Given the description of an element on the screen output the (x, y) to click on. 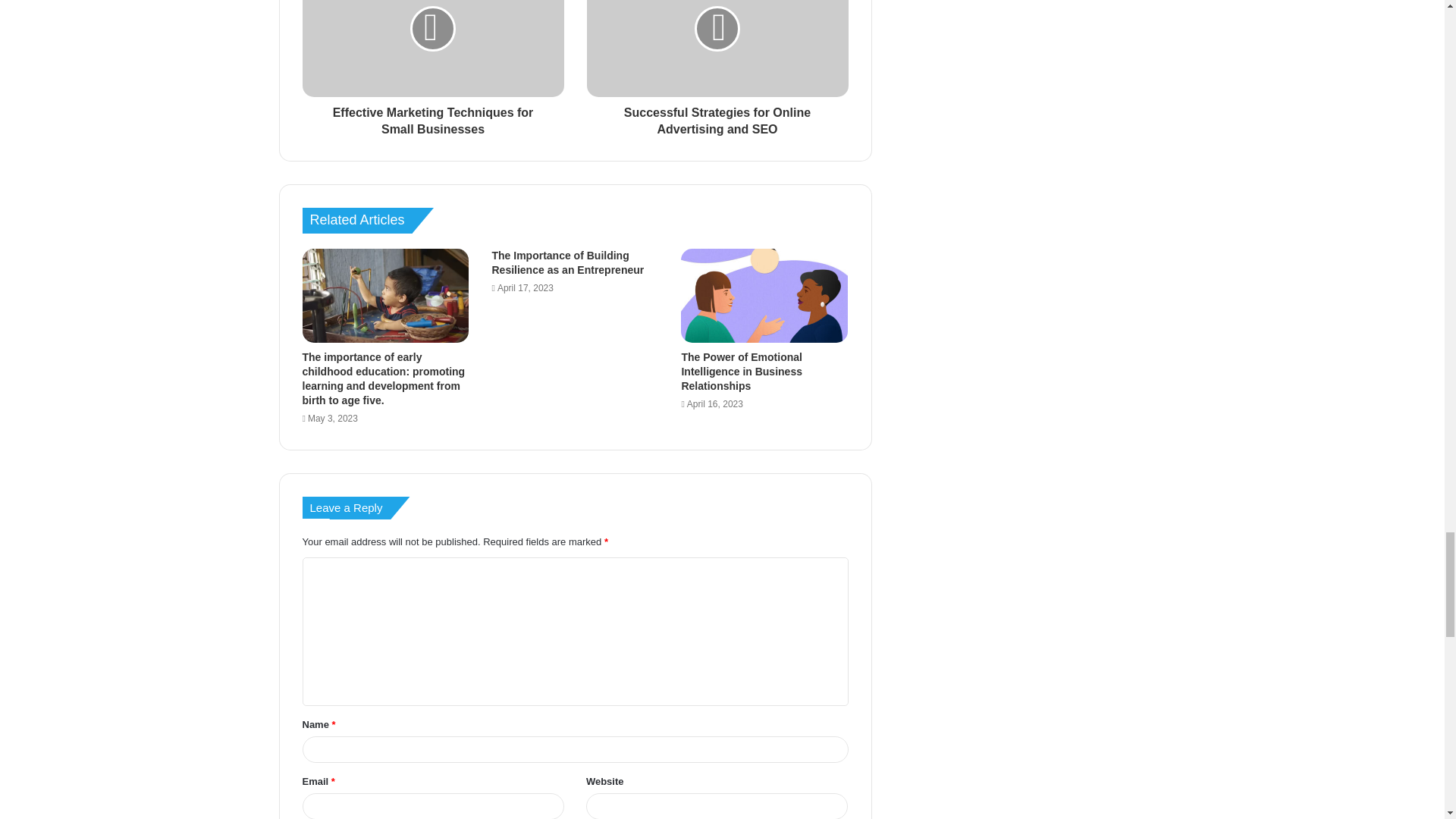
Successful Strategies for Online Advertising and SEO (717, 117)
Effective Marketing Techniques for Small Businesses (432, 117)
